Given the description of an element on the screen output the (x, y) to click on. 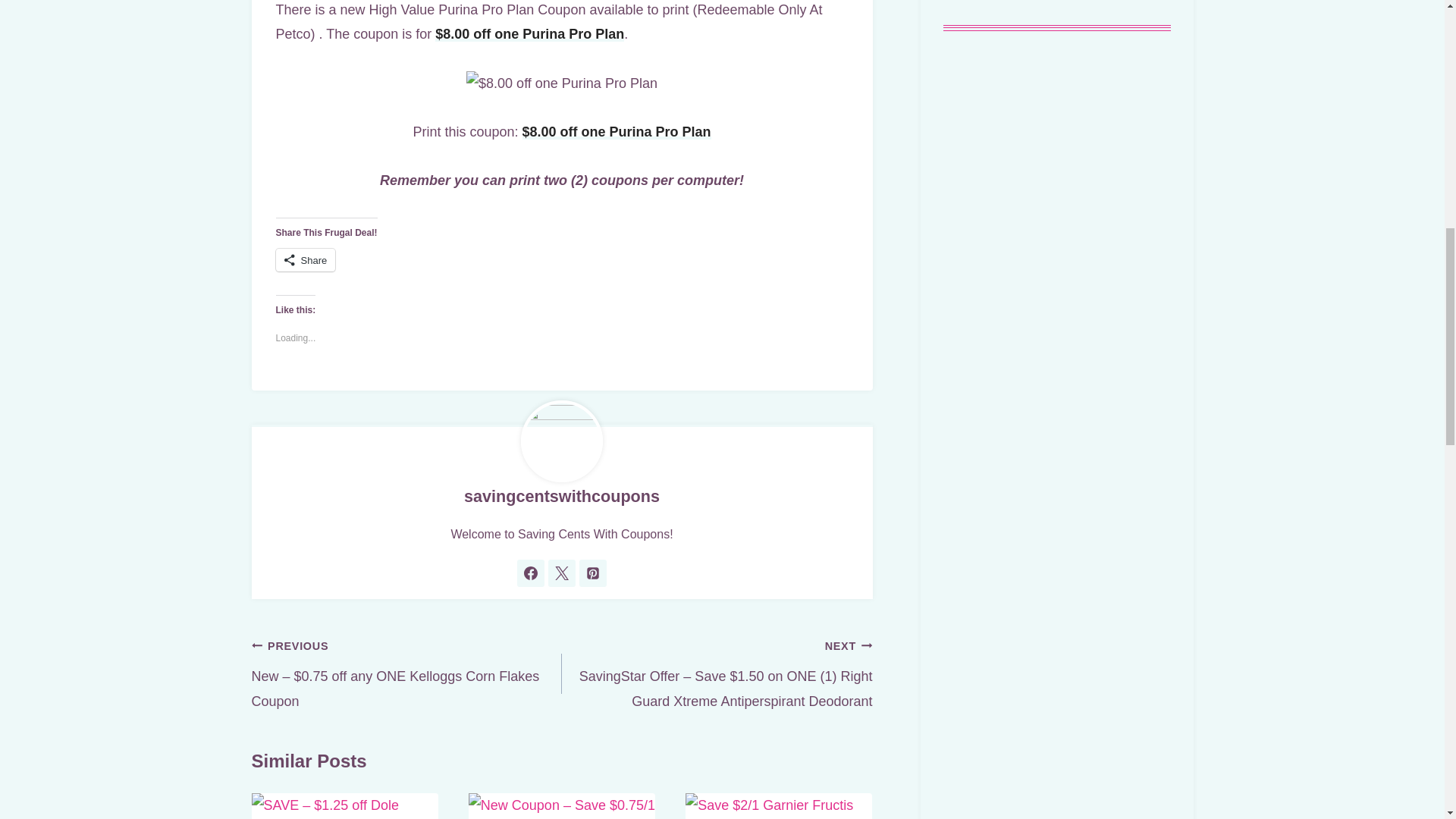
Follow savingcentswithcoupons on Pinterest (593, 573)
Follow savingcentswithcoupons on X formerly Twitter (561, 573)
Follow savingcentswithcoupons on Facebook (530, 573)
Posts by savingcentswithcoupons (561, 496)
